Given the description of an element on the screen output the (x, y) to click on. 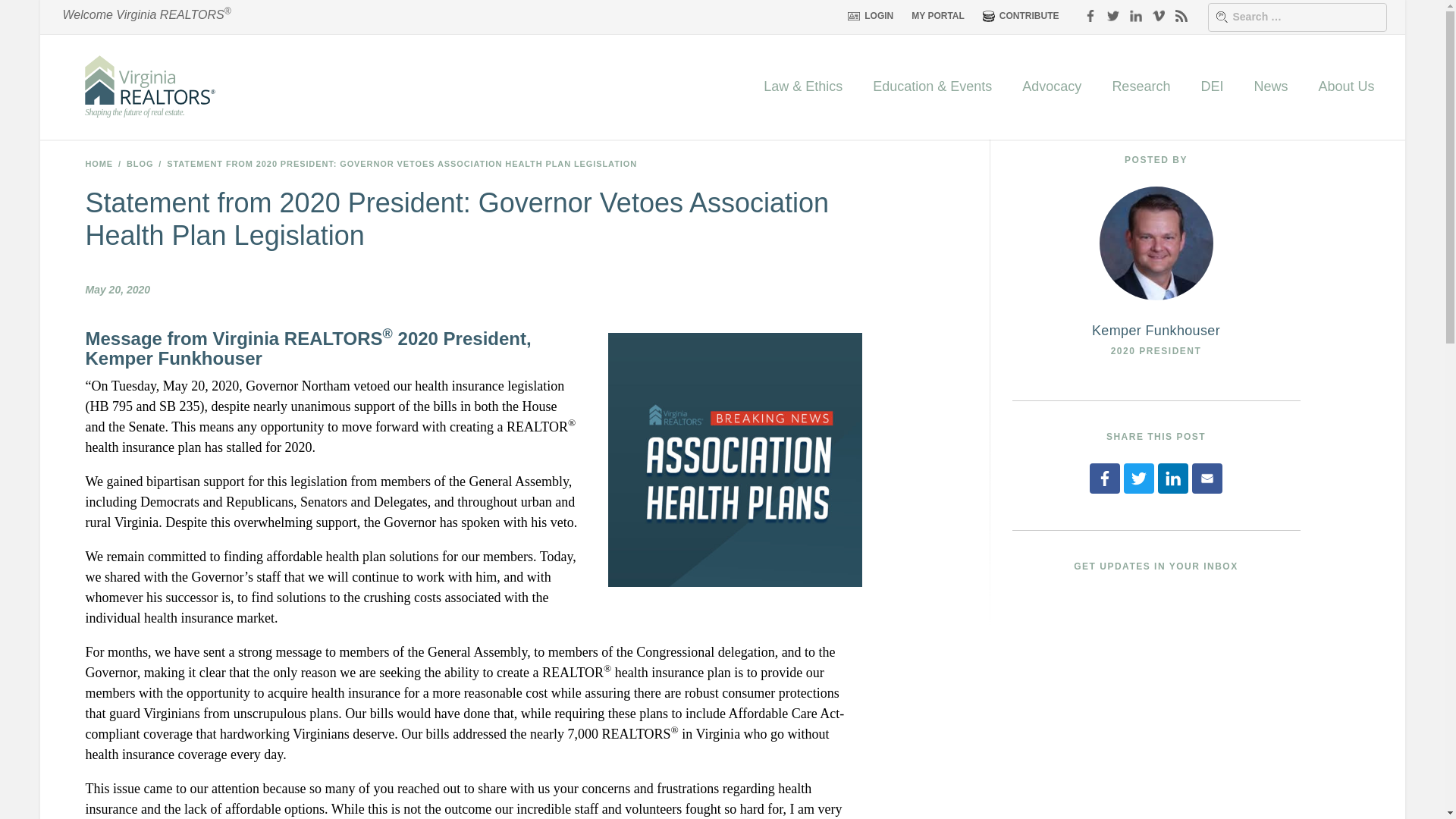
Shaping the future of real estate. (149, 87)
Share Event on Facebook (1104, 478)
Share Event on LinkedIn (1172, 478)
Share on Email (1207, 478)
Share Event on Twitter (1139, 478)
Search for: (1296, 17)
